Given the description of an element on the screen output the (x, y) to click on. 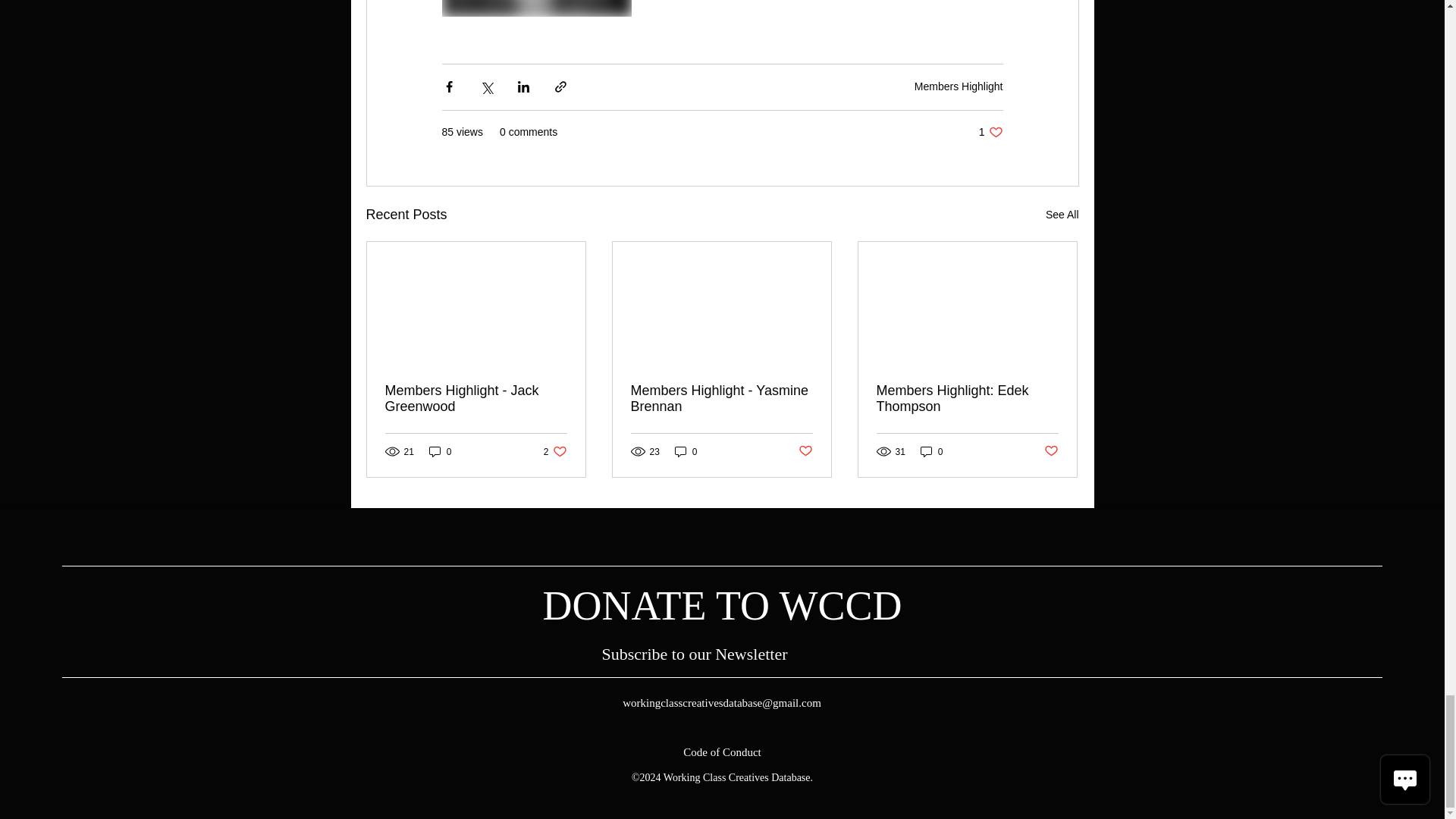
See All (1061, 214)
Members Highlight (958, 86)
0 (440, 451)
Members Highlight - Jack Greenwood (476, 398)
Post not marked as liked (804, 451)
Members Highlight - Yasmine Brennan (721, 398)
0 (685, 451)
